Given the description of an element on the screen output the (x, y) to click on. 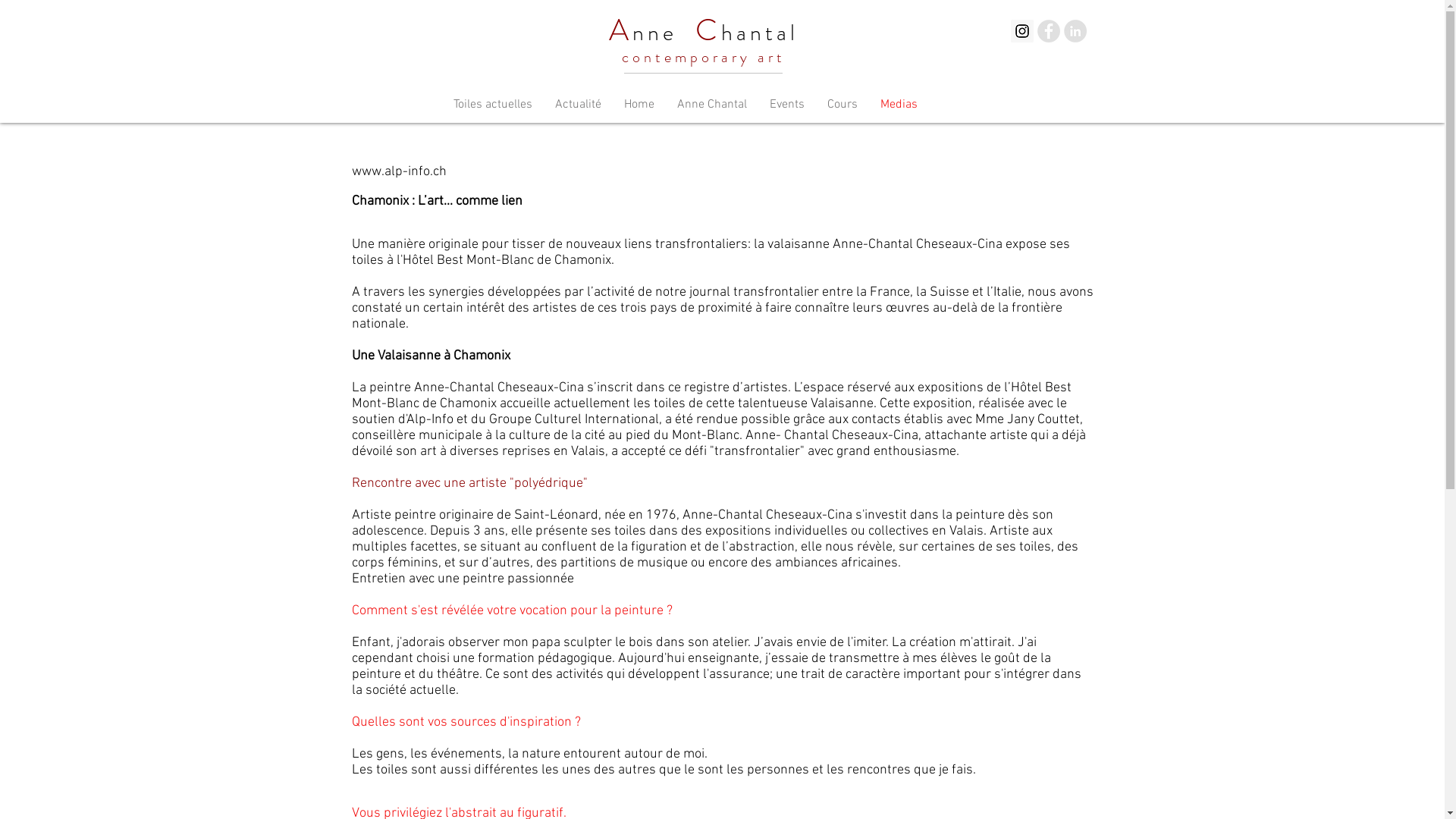
Anne Chantal Element type: text (711, 104)
Cours Element type: text (842, 104)
Medias Element type: text (898, 104)
Events Element type: text (786, 104)
Home Element type: text (638, 104)
www.alp-info.ch Element type: text (398, 171)
Toiles actuelles Element type: text (491, 104)
